Given the description of an element on the screen output the (x, y) to click on. 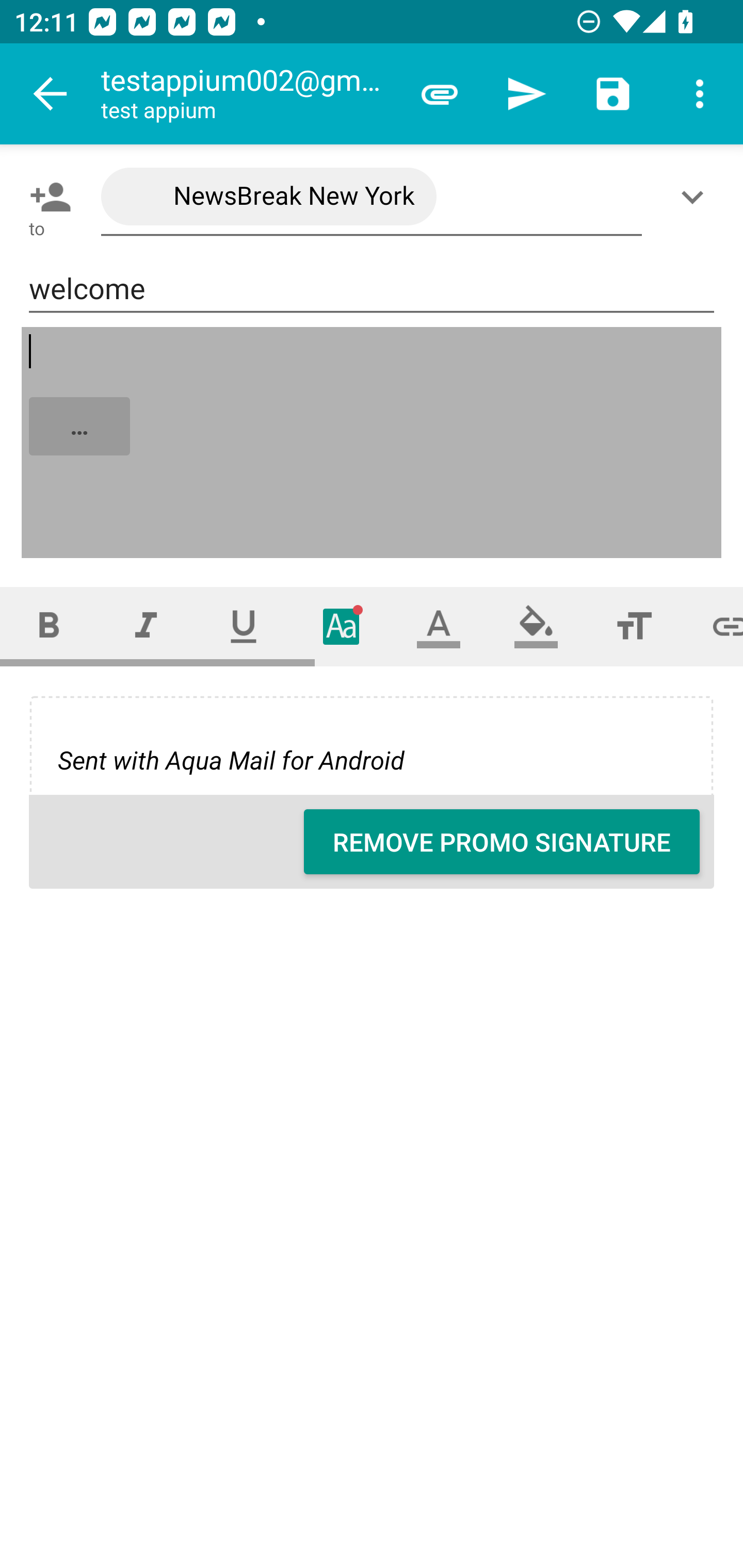
Navigate up (50, 93)
testappium002@gmail.com test appium (248, 93)
Attach (439, 93)
Send (525, 93)
Save (612, 93)
More options (699, 93)
Pick contact: To (46, 196)
Show/Add CC/BCC (696, 196)
welcome (371, 288)

…
 (372, 442)
Bold (48, 626)
Italic (145, 626)
Underline (243, 626)
Typeface (font) (341, 626)
Text color (438, 626)
Fill color (536, 626)
Font size (633, 626)
Set link (712, 626)
REMOVE PROMO SIGNATURE (501, 841)
